Given the description of an element on the screen output the (x, y) to click on. 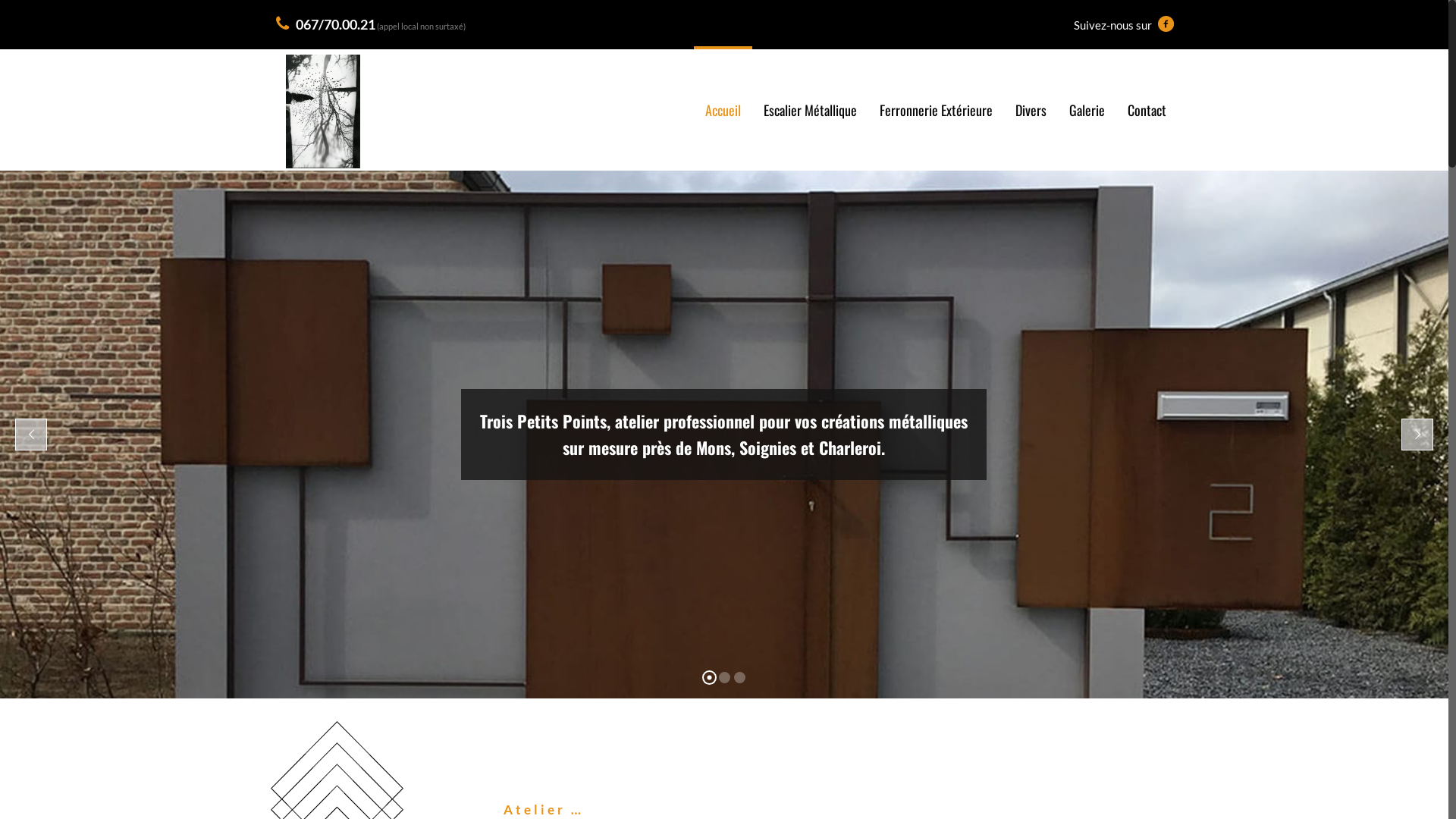
Galerie Element type: text (1086, 109)
Accueil Element type: text (722, 109)
Trois Petits Points Element type: hover (322, 109)
Contact Element type: text (1146, 109)
Divers Element type: text (1030, 109)
067/70.00.21 Element type: text (335, 23)
